Given the description of an element on the screen output the (x, y) to click on. 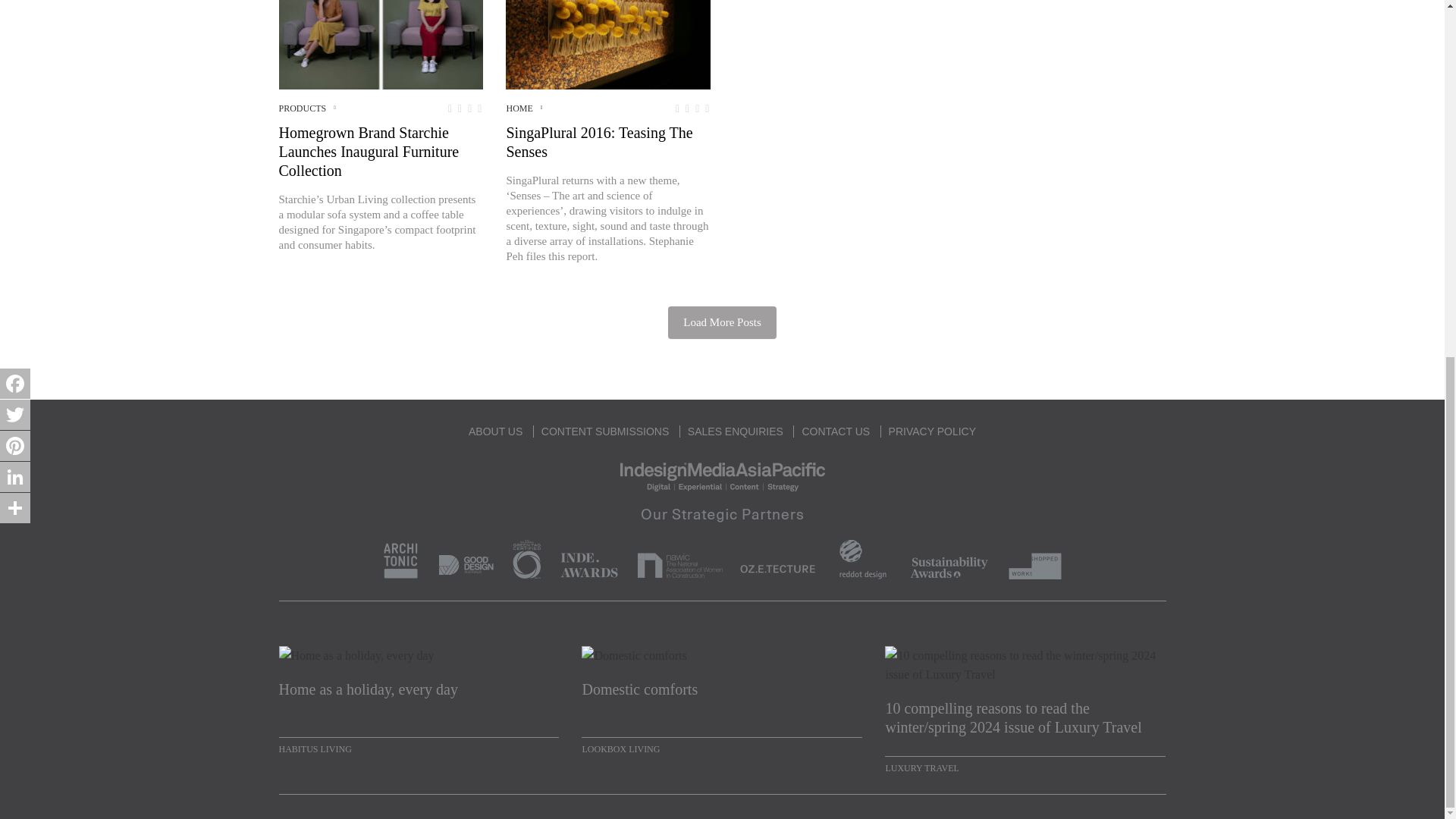
Brought to you by Indesign Media Asia Pacific (721, 475)
Our Strategic Partners (722, 539)
Home as a holiday, every day (419, 699)
Domestic comforts (720, 699)
SingaPlural 2016: Teasing The Senses (607, 44)
